Given the description of an element on the screen output the (x, y) to click on. 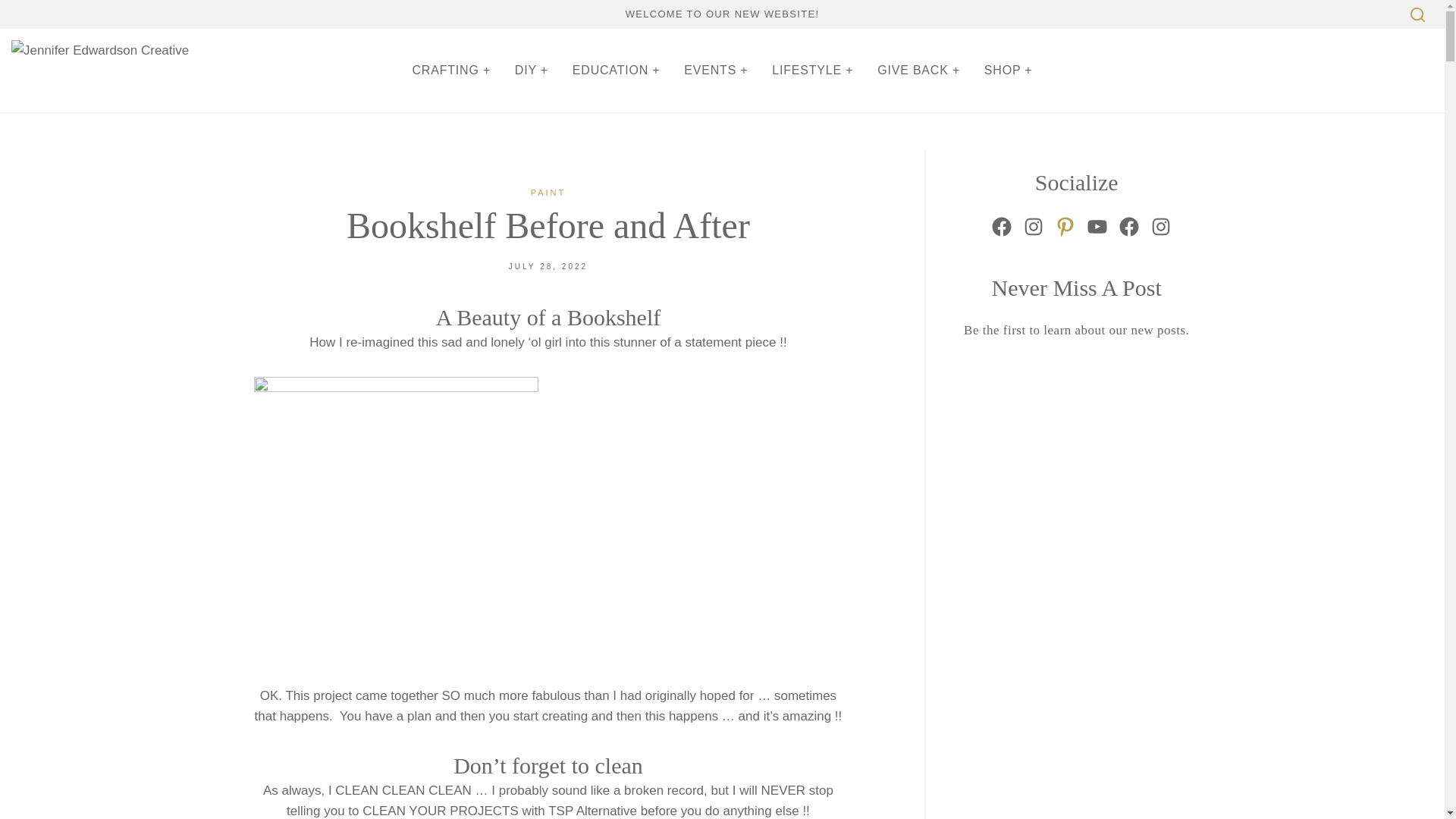
PAINT (548, 192)
